Given the description of an element on the screen output the (x, y) to click on. 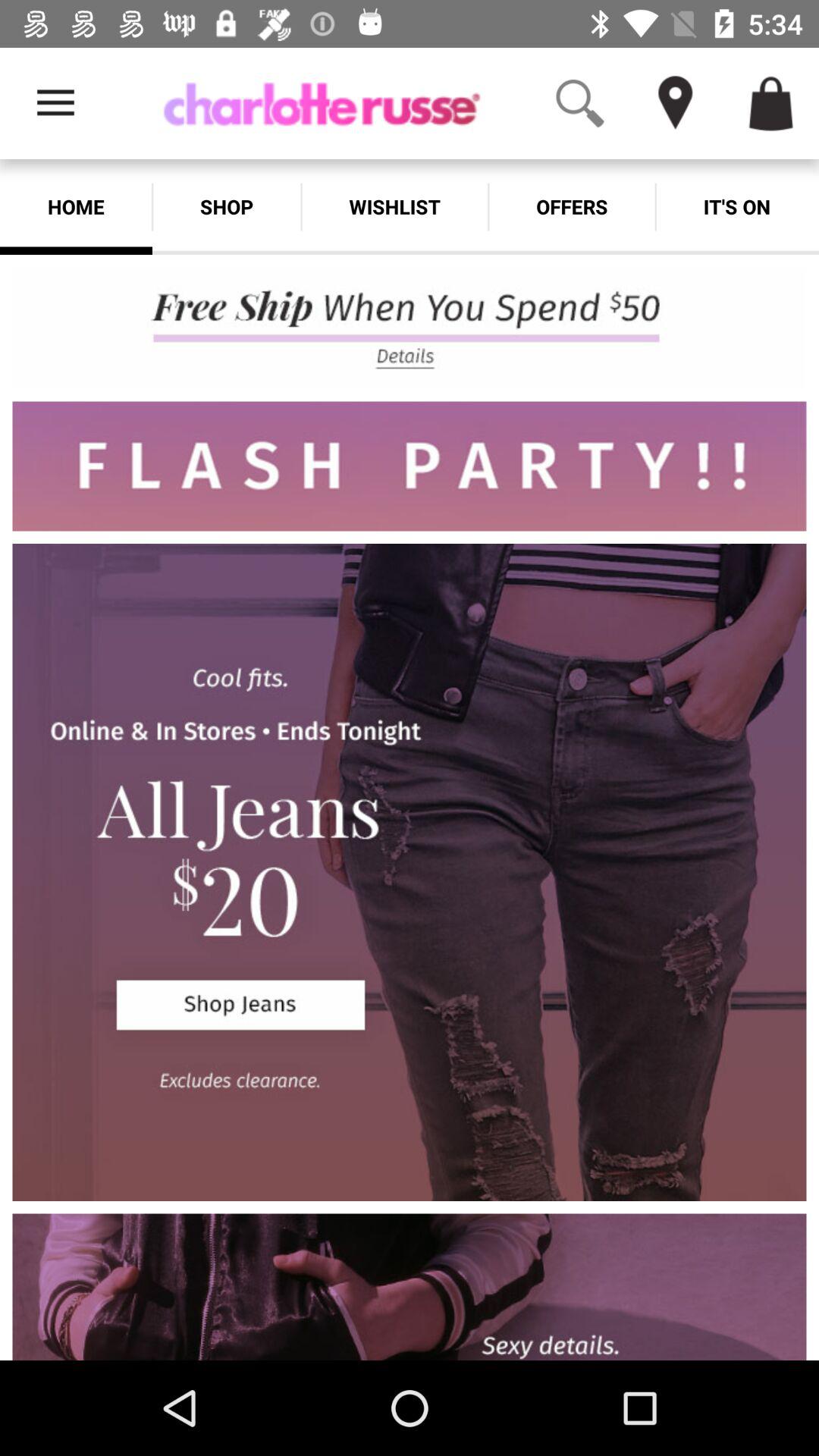
turn off the icon to the left of the it's on item (571, 206)
